Given the description of an element on the screen output the (x, y) to click on. 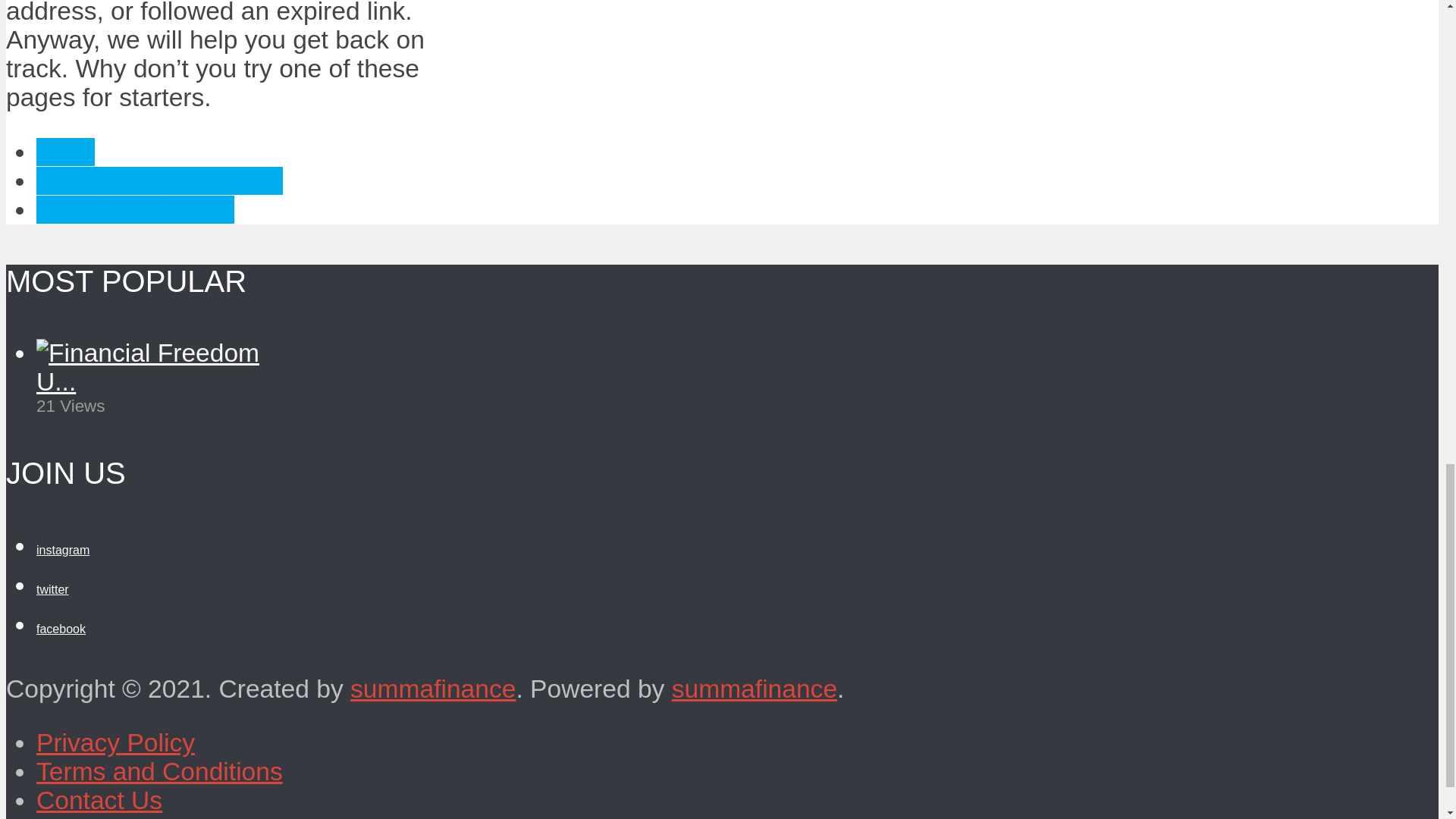
Instagram (62, 549)
summafinance (432, 688)
More (65, 152)
Terms and Conditions (159, 771)
twitter (52, 589)
Personal Finance (135, 209)
Contact Us (98, 800)
facebook (60, 628)
U... (55, 381)
Investment Strategies (159, 180)
instagram (62, 549)
Facebook (60, 628)
summafinance (754, 688)
